Given the description of an element on the screen output the (x, y) to click on. 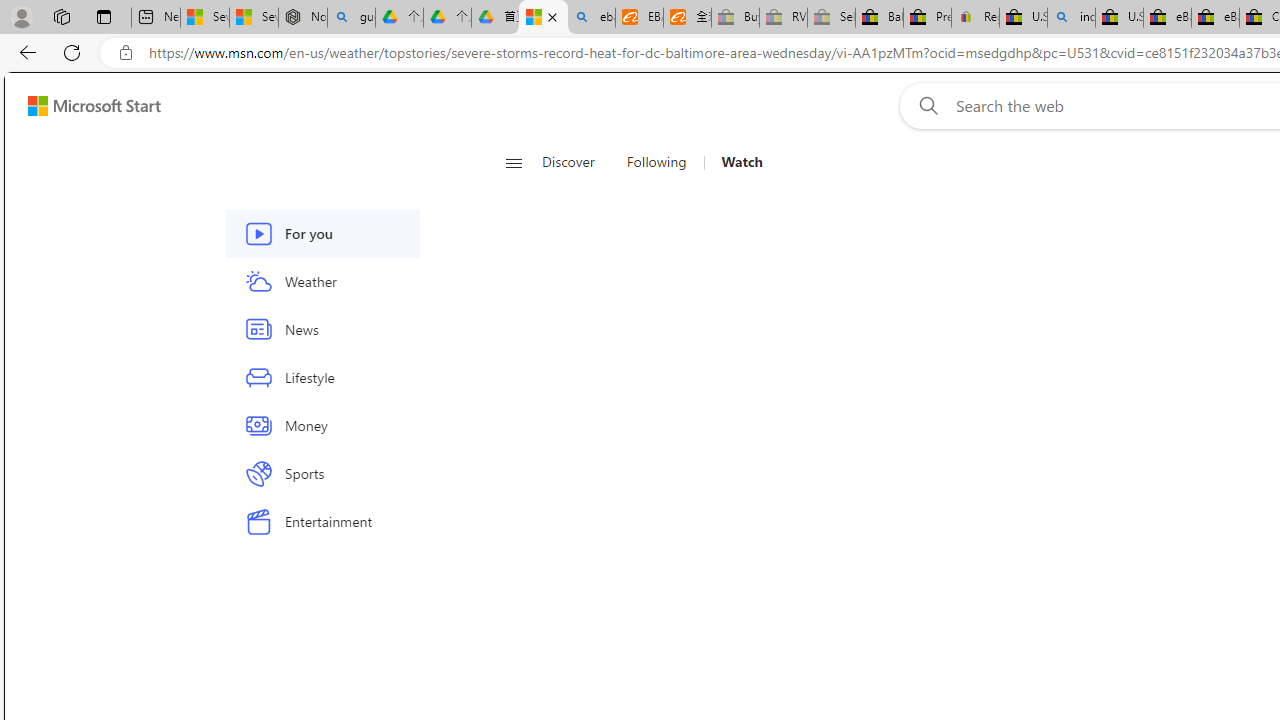
Class: button-glyph (513, 162)
Baby Keepsakes & Announcements for sale | eBay (879, 17)
Skip to content (86, 105)
